Given the description of an element on the screen output the (x, y) to click on. 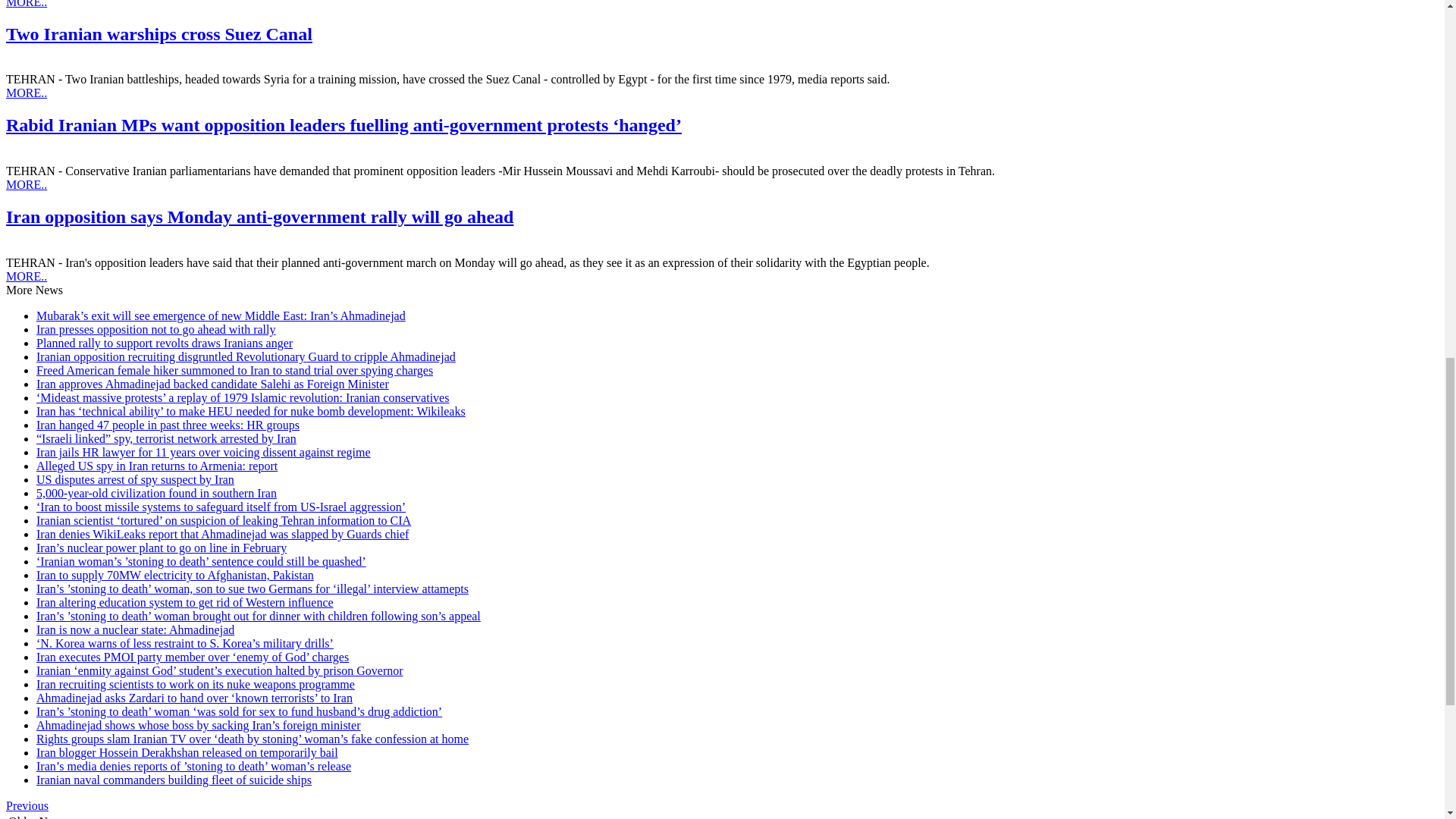
MORE.. (25, 4)
Two Iranian warships cross Suez Canal (159, 34)
MORE.. (25, 92)
